Given the description of an element on the screen output the (x, y) to click on. 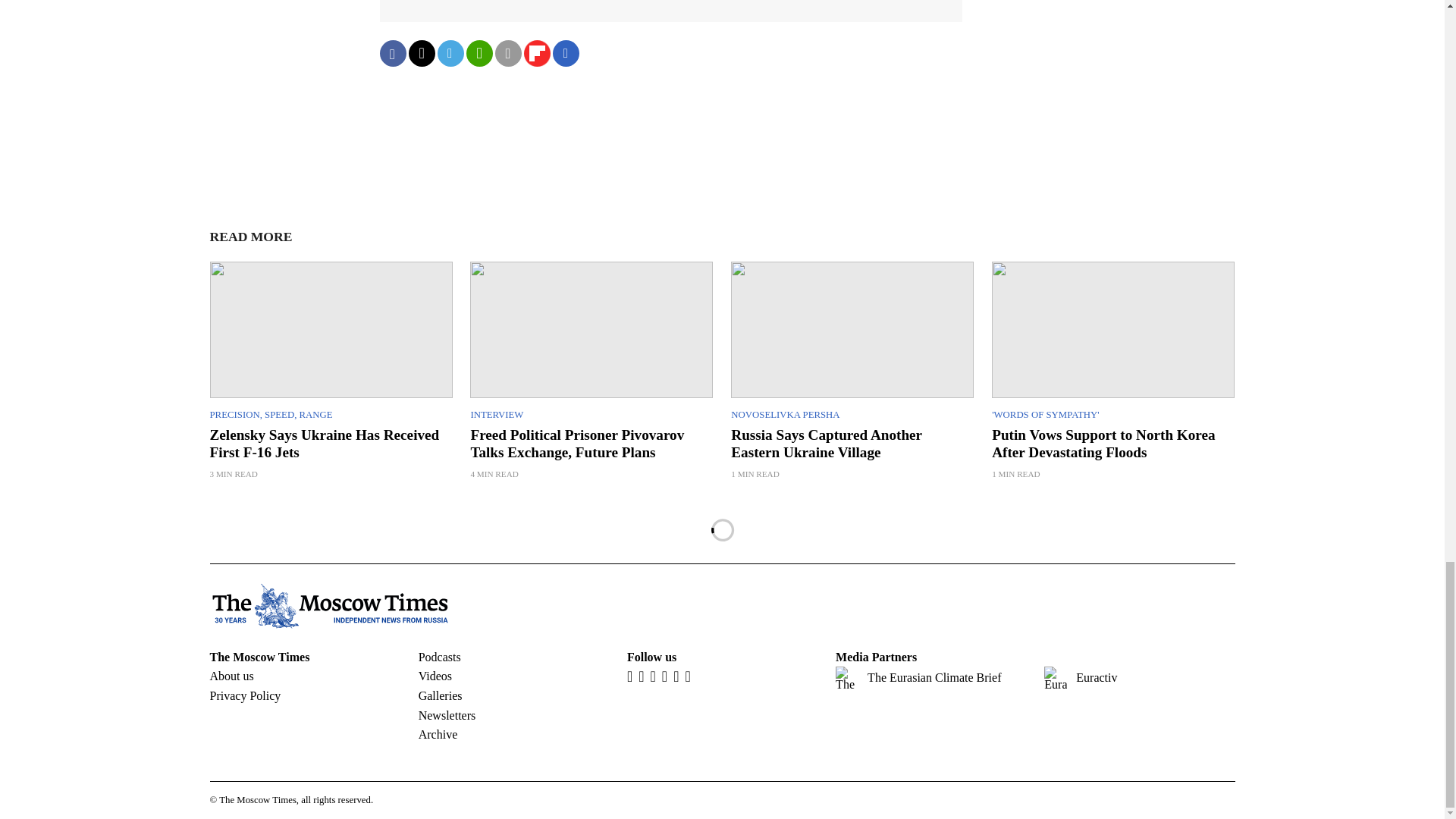
Share on Twitter (420, 53)
Share on Flipboard (536, 53)
Share on Telegram (449, 53)
Share on Facebook (392, 53)
